Given the description of an element on the screen output the (x, y) to click on. 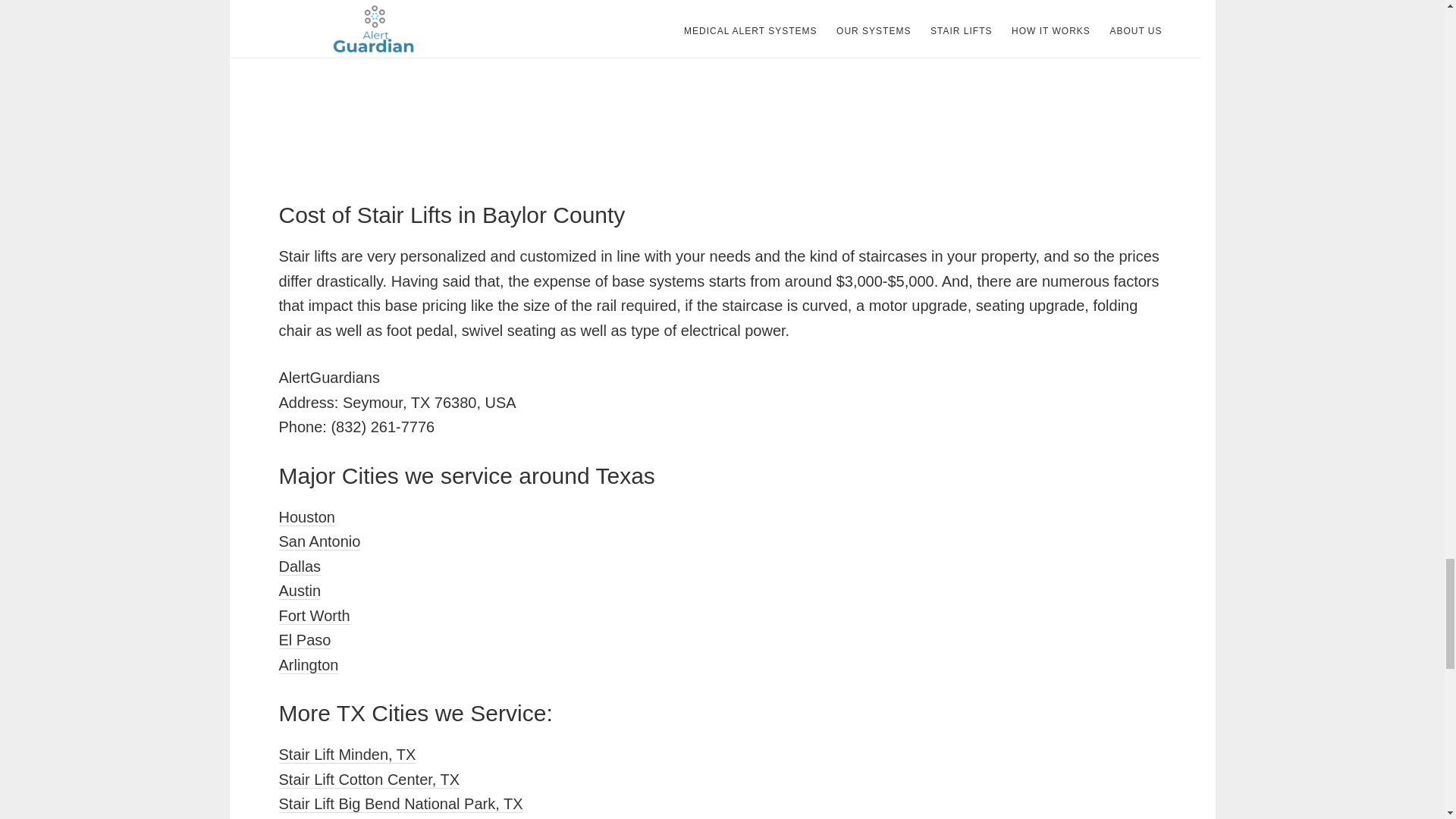
Stair Lift Minden, TX (347, 754)
San Antonio (320, 541)
Stair Lift Cotton Center, TX (369, 779)
Austin (300, 590)
Fort Worth (314, 615)
Dallas (300, 566)
Houston (307, 517)
Stair Lift Big Bend National Park, TX (400, 804)
